Given the description of an element on the screen output the (x, y) to click on. 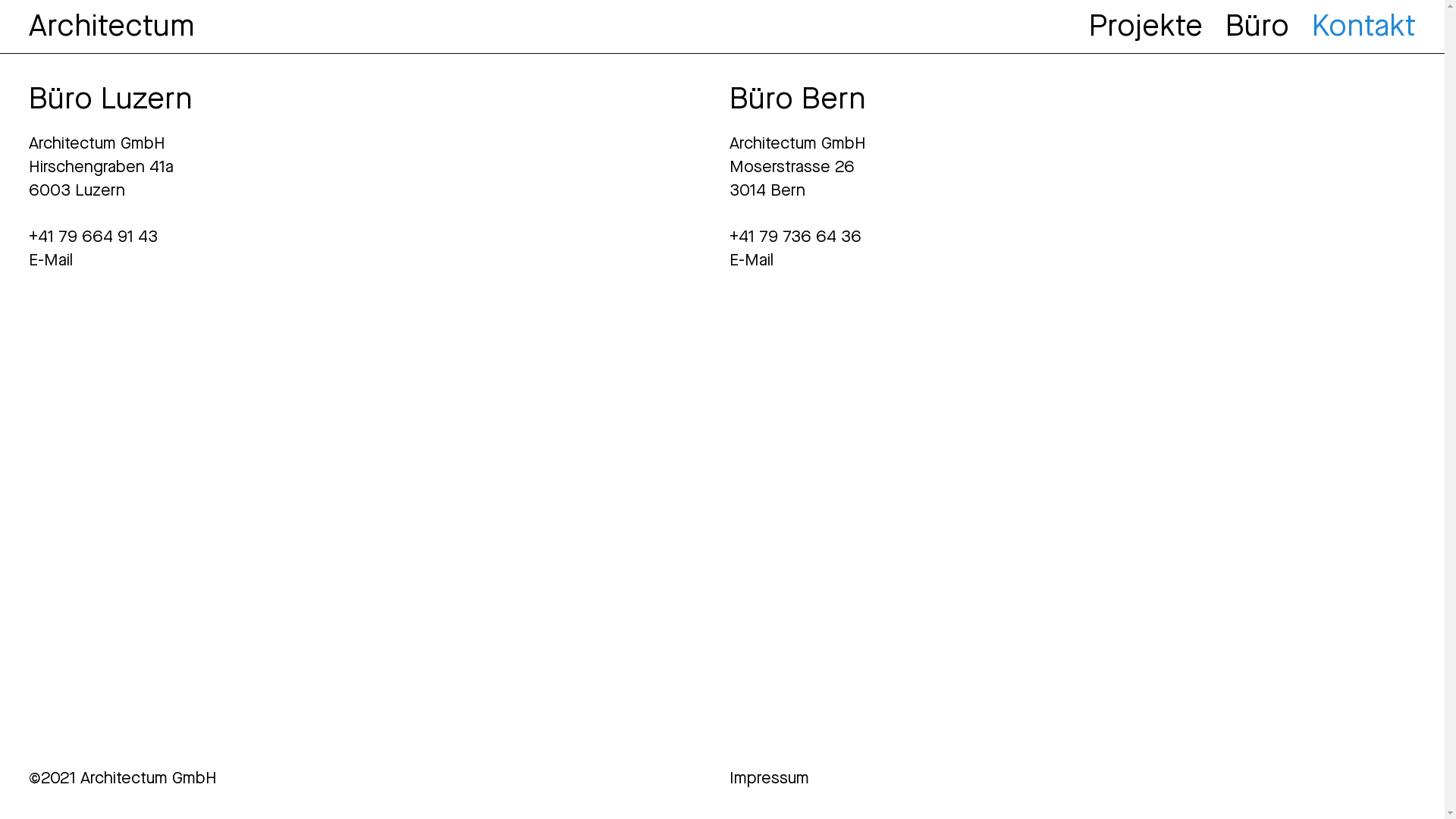
Projekte Element type: text (1145, 25)
E-Mail Element type: text (50, 259)
Architectum Element type: text (111, 25)
E-Mail Element type: text (751, 259)
Impressum Element type: text (769, 777)
Kontakt Element type: text (1363, 25)
